Given the description of an element on the screen output the (x, y) to click on. 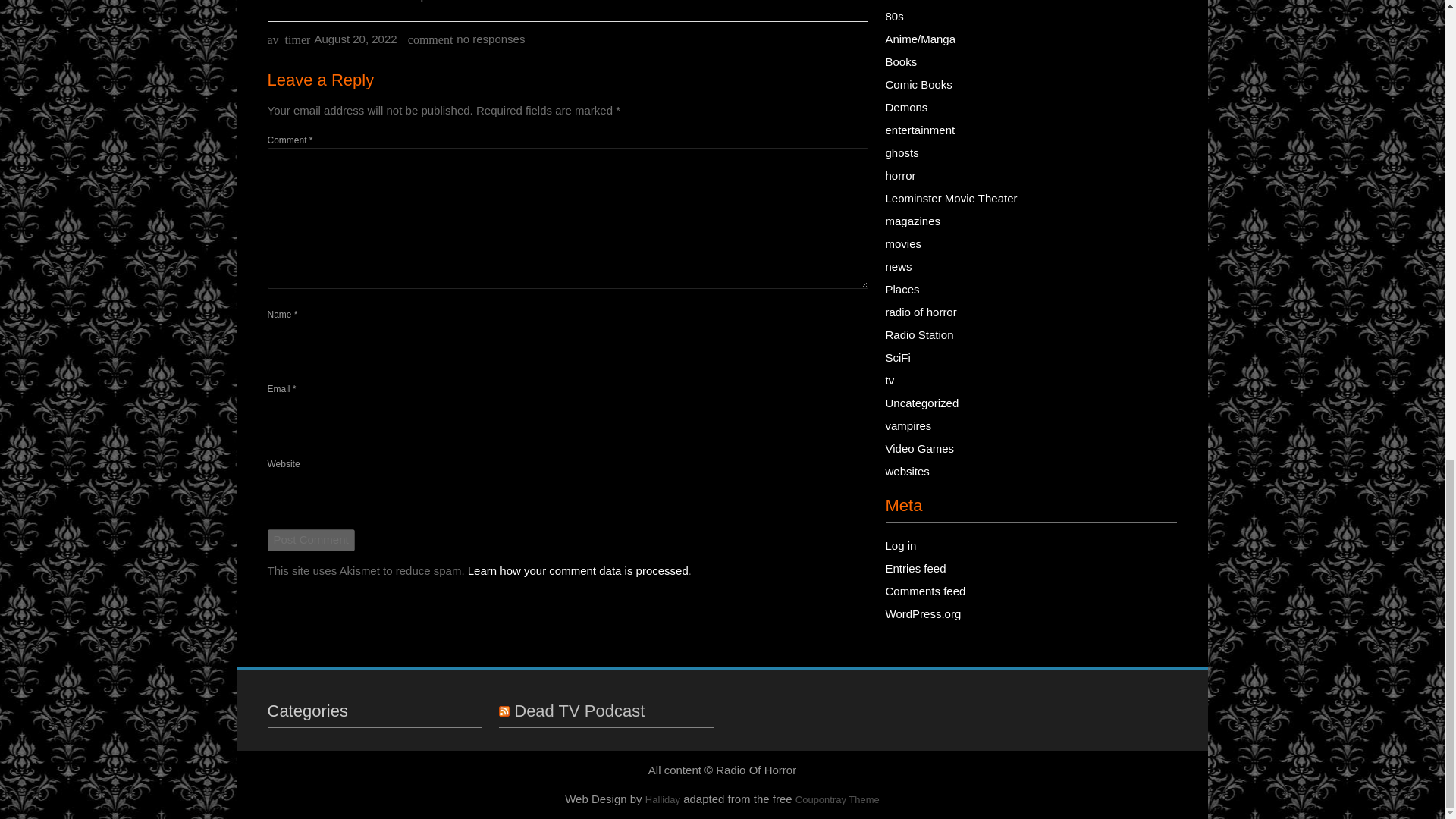
Post Comment (309, 540)
